Given the description of an element on the screen output the (x, y) to click on. 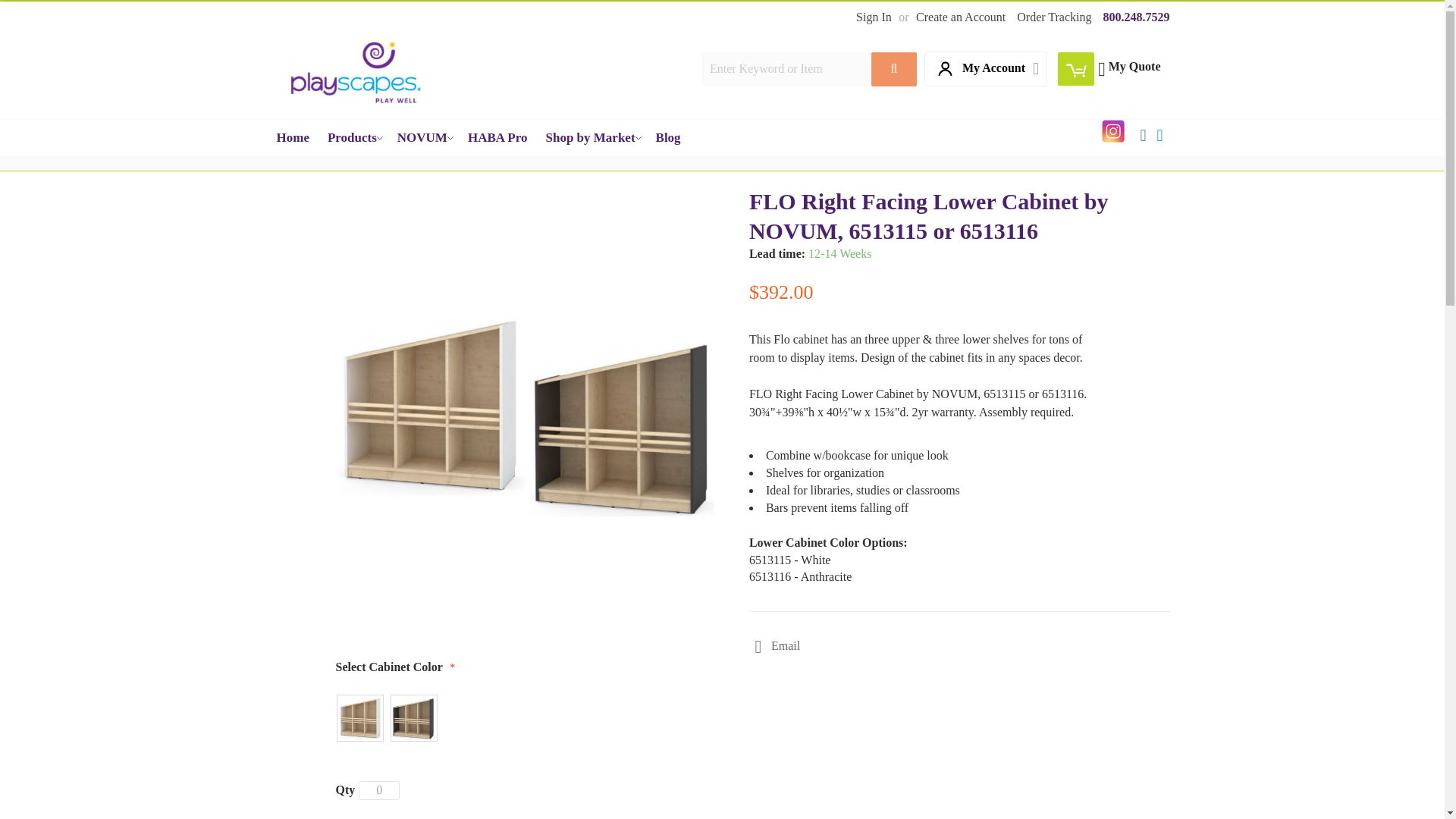
Playscapes (353, 69)
800.248.7529 (1135, 17)
Create an Account (960, 17)
Order Tracking (1053, 17)
My Account (987, 68)
Sign In (873, 17)
0 (378, 790)
Qty (378, 790)
My Cart (1076, 68)
Products (353, 137)
